Given the description of an element on the screen output the (x, y) to click on. 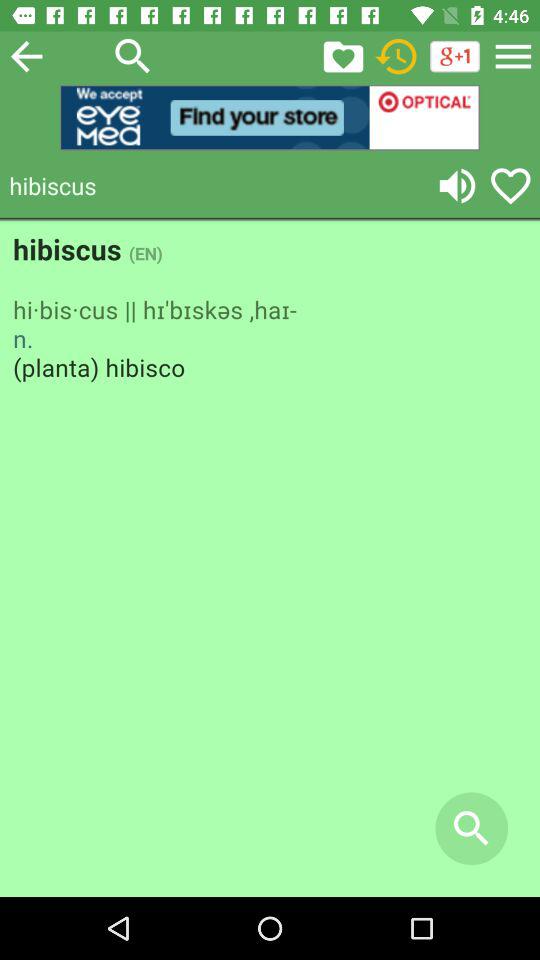
search button (133, 56)
